Given the description of an element on the screen output the (x, y) to click on. 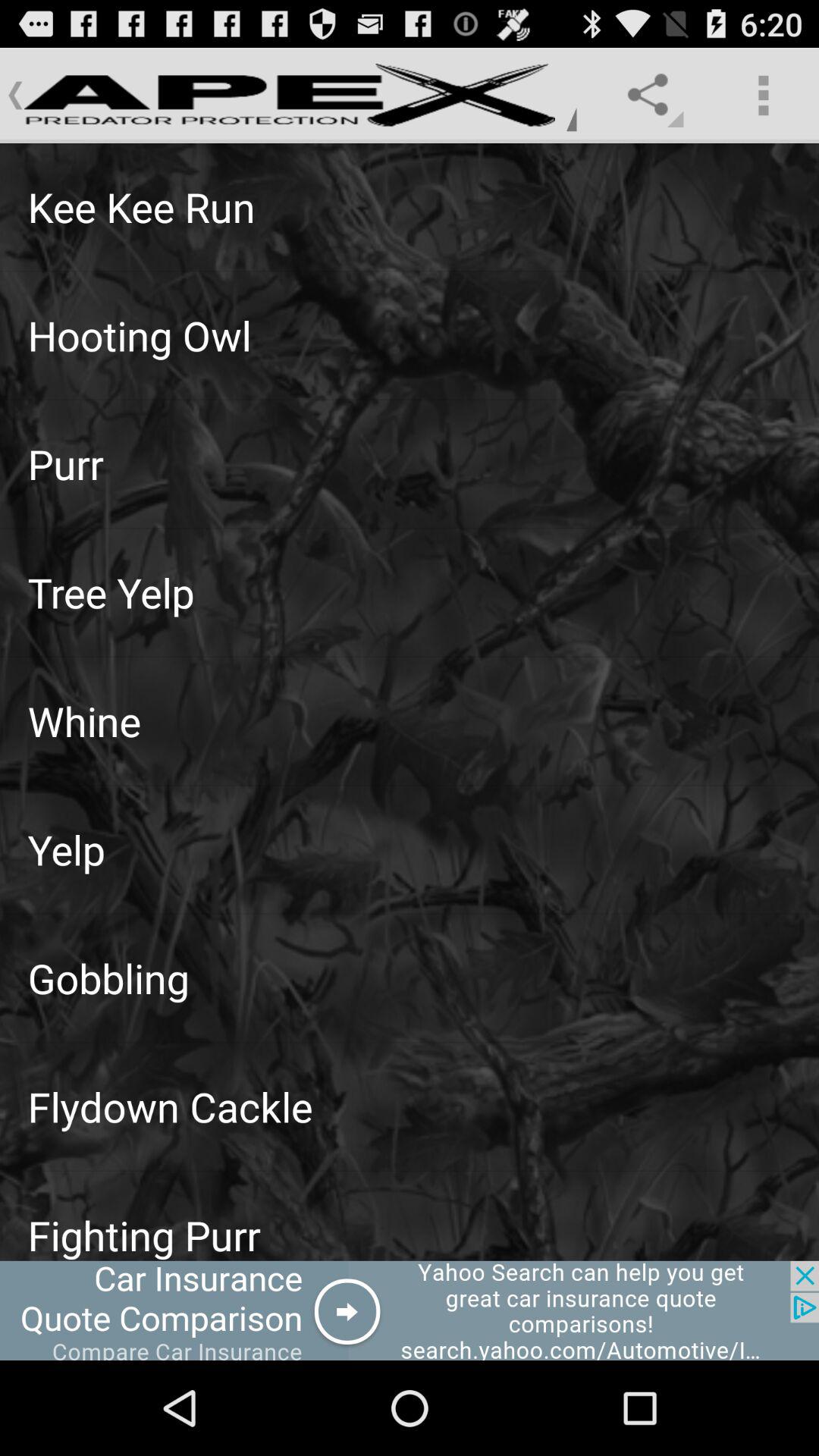
advertising (409, 1310)
